Given the description of an element on the screen output the (x, y) to click on. 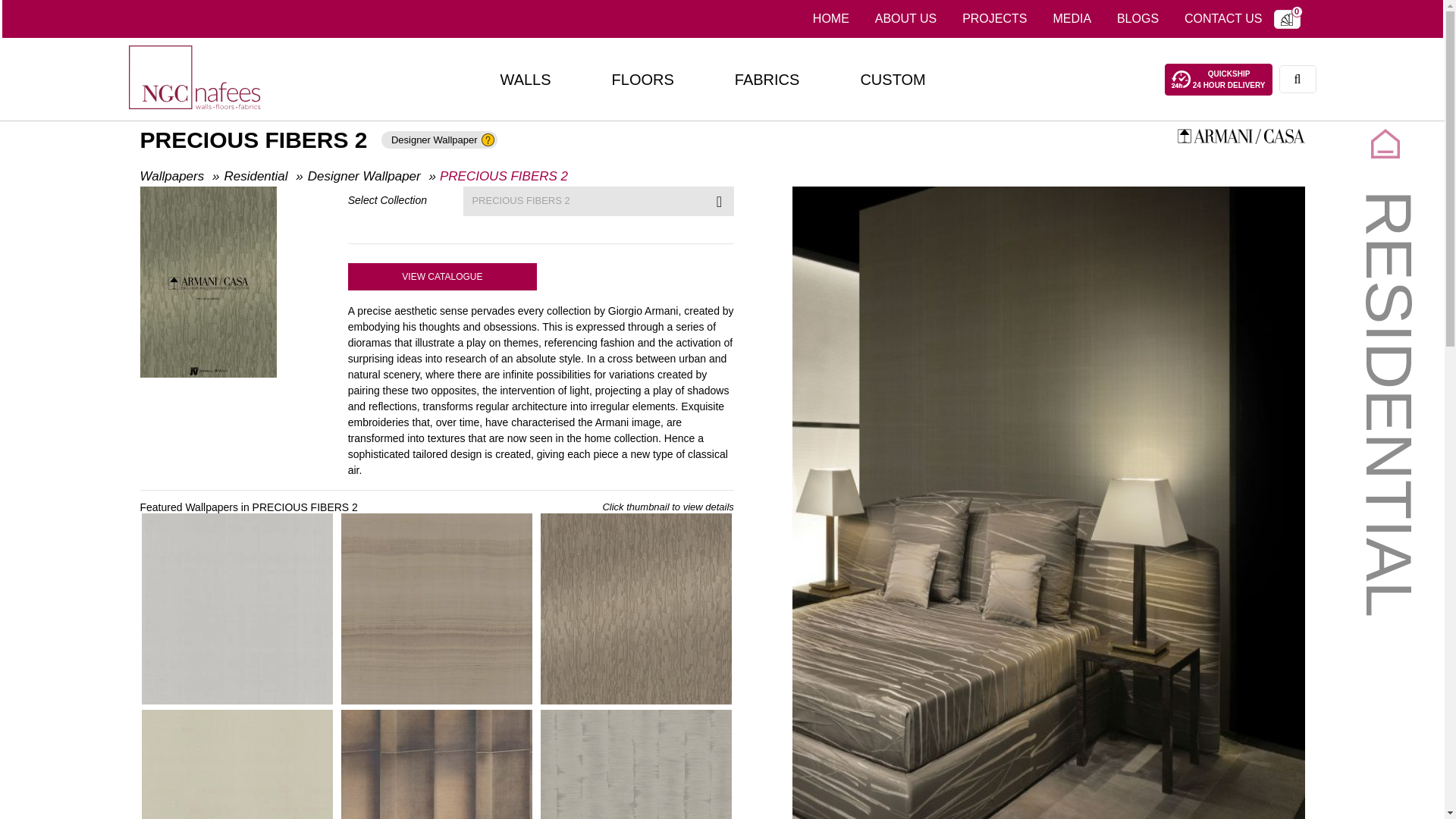
ABOUT US (906, 19)
HOME (1218, 79)
BLOGS (831, 19)
PROJECTS (1137, 19)
CONTACT US (994, 19)
MEDIA (1223, 19)
